Given the description of an element on the screen output the (x, y) to click on. 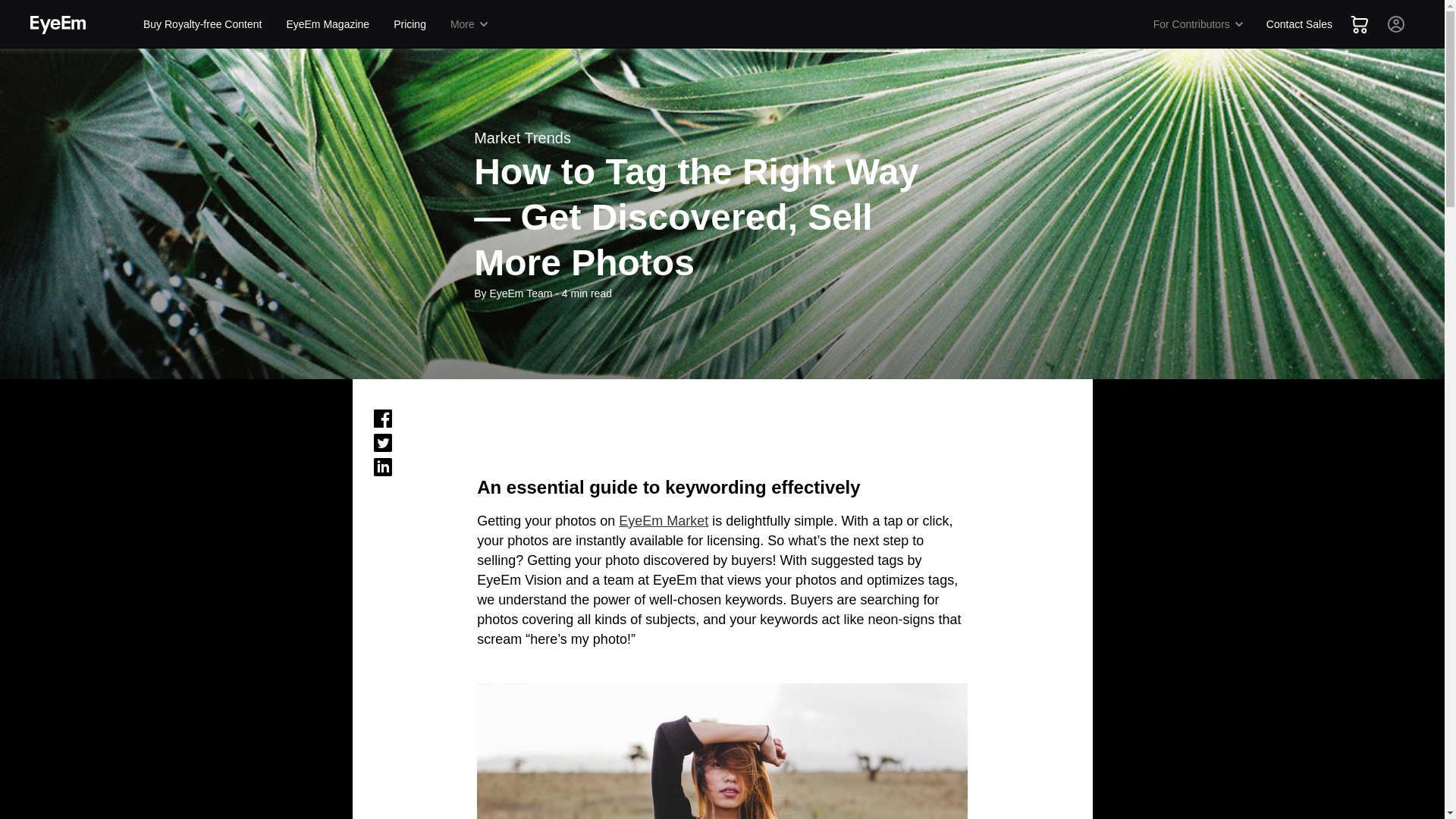
More (470, 24)
For Contributors (1198, 24)
Pricing (409, 24)
Cart (1358, 24)
Buy Royalty-free Content (201, 24)
EyeEm Magazine (327, 24)
EyeEm Market (662, 520)
Contact Sales (1298, 24)
